Given the description of an element on the screen output the (x, y) to click on. 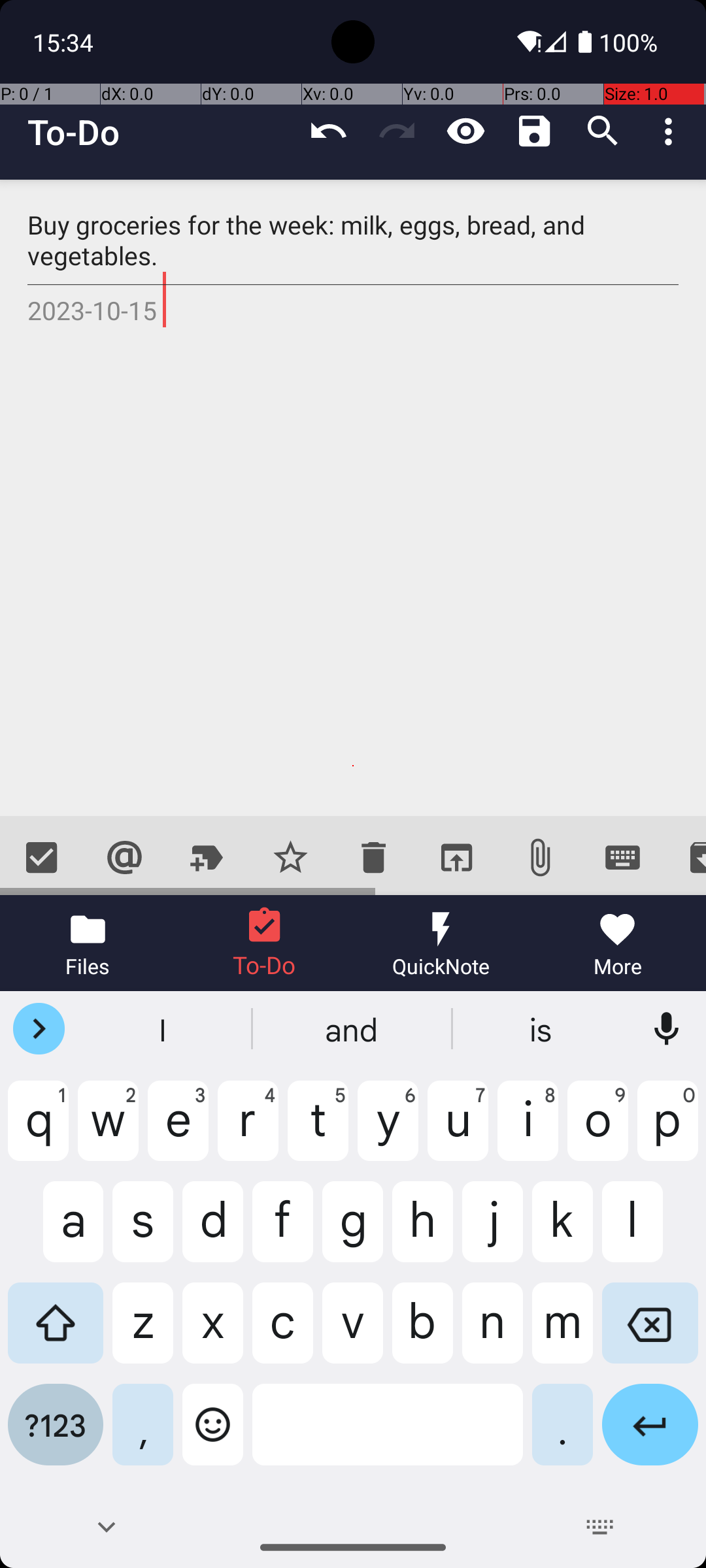
Buy groceries for the week: milk, eggs, bread, and vegetables.
2023-10-15  Element type: android.widget.EditText (353, 497)
and Element type: android.widget.FrameLayout (352, 1028)
is Element type: android.widget.FrameLayout (541, 1028)
